Given the description of an element on the screen output the (x, y) to click on. 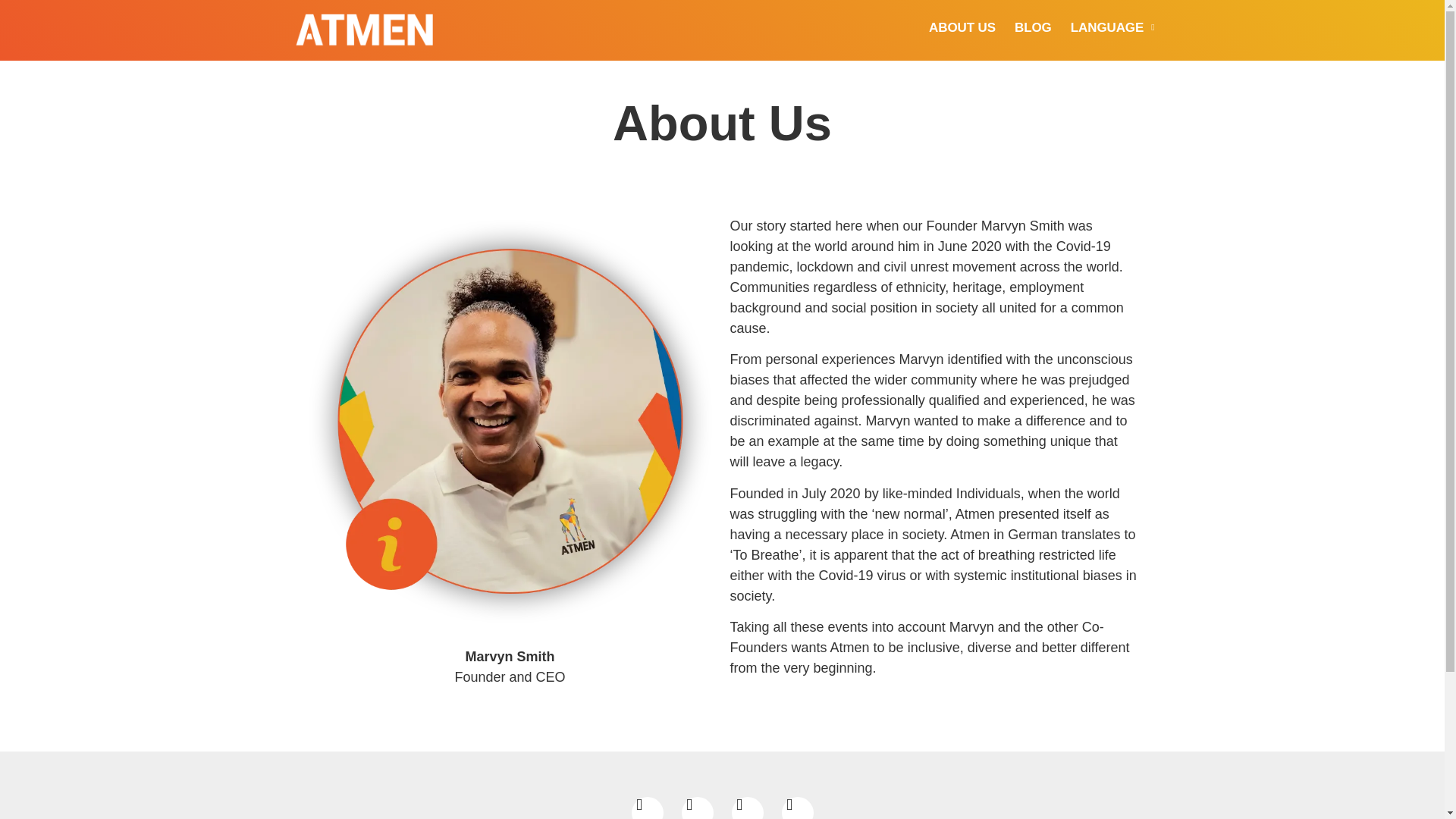
LANGUAGE (1112, 28)
BLOG (1032, 28)
ABOUT US (961, 28)
